Given the description of an element on the screen output the (x, y) to click on. 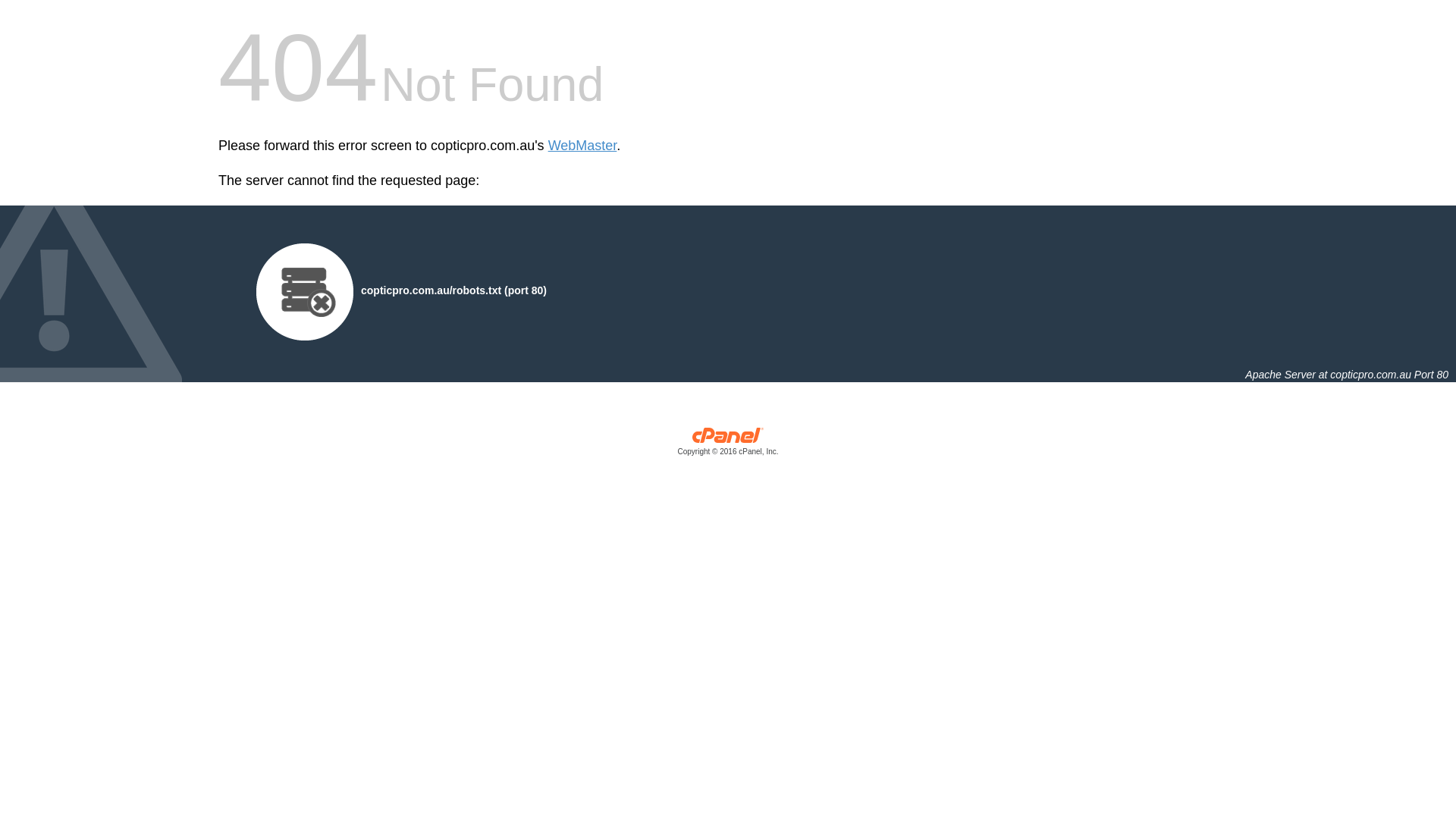
WebMaster Element type: text (582, 145)
